Given the description of an element on the screen output the (x, y) to click on. 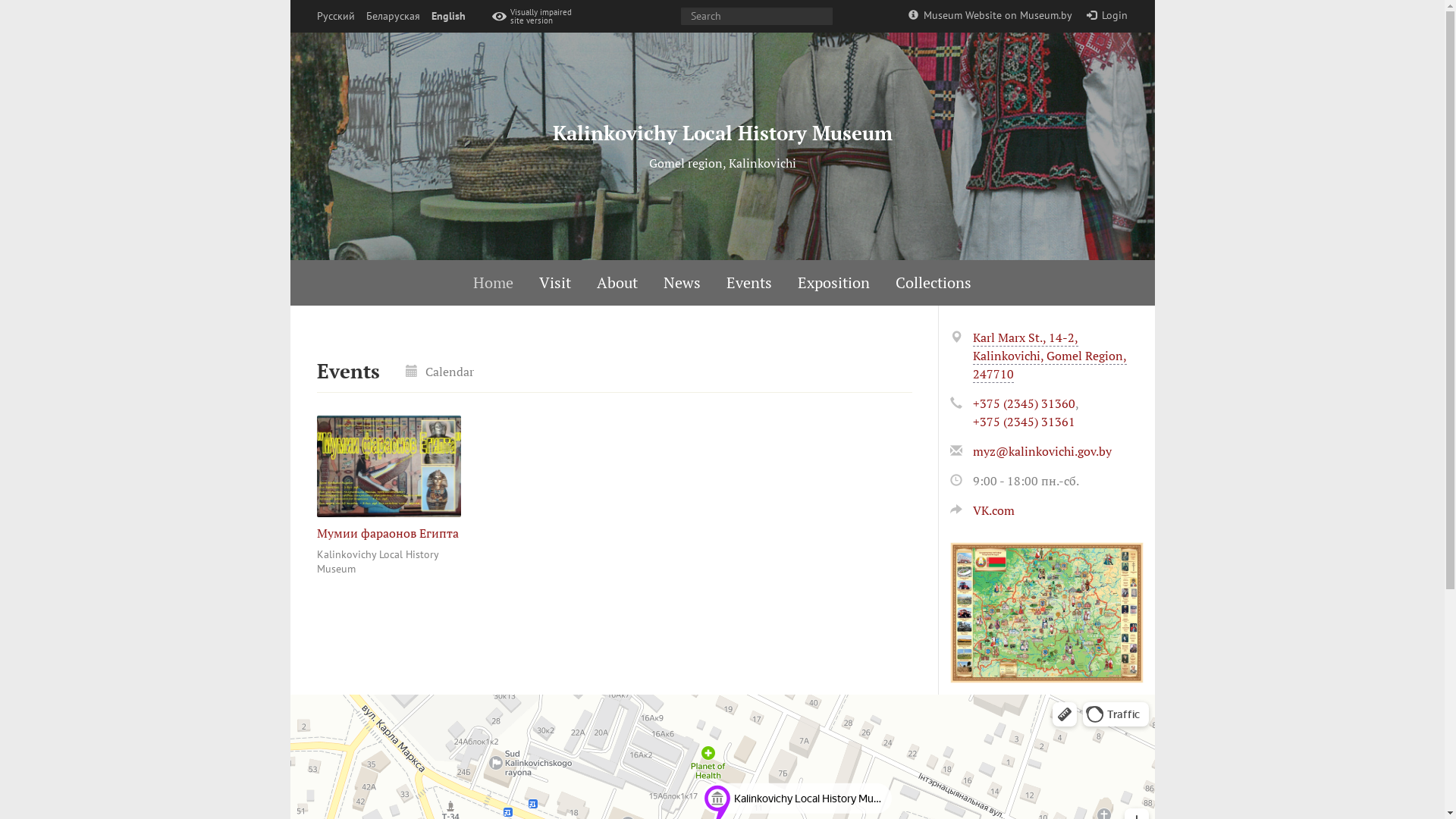
Skip to main content Element type: text (0, 0)
Enter the terms you wish to search for. Element type: hover (756, 16)
About Element type: text (616, 282)
English Element type: text (447, 16)
News Element type: text (681, 282)
Collections Element type: text (933, 282)
Karl Marx St., 14-2, Kalinkovichi, Gomel Region, 247710 Element type: text (1049, 355)
VK.com Element type: text (981, 510)
Home Element type: text (493, 282)
Visually impaired site version Element type: text (535, 16)
+375 (2345) 31360 Element type: text (1023, 403)
Visit Element type: text (555, 282)
Museum Website on Museum.by Element type: text (989, 14)
Exposition Element type: text (833, 282)
Login Element type: text (1106, 14)
+375 (2345) 31361 Element type: text (1023, 421)
myz@kalinkovichi.gov.by Element type: text (1041, 450)
Kalinkovichy Local History Museum Element type: text (721, 132)
Kalinkovichy Local History Museum Element type: text (377, 561)
Events Element type: text (748, 282)
